Given the description of an element on the screen output the (x, y) to click on. 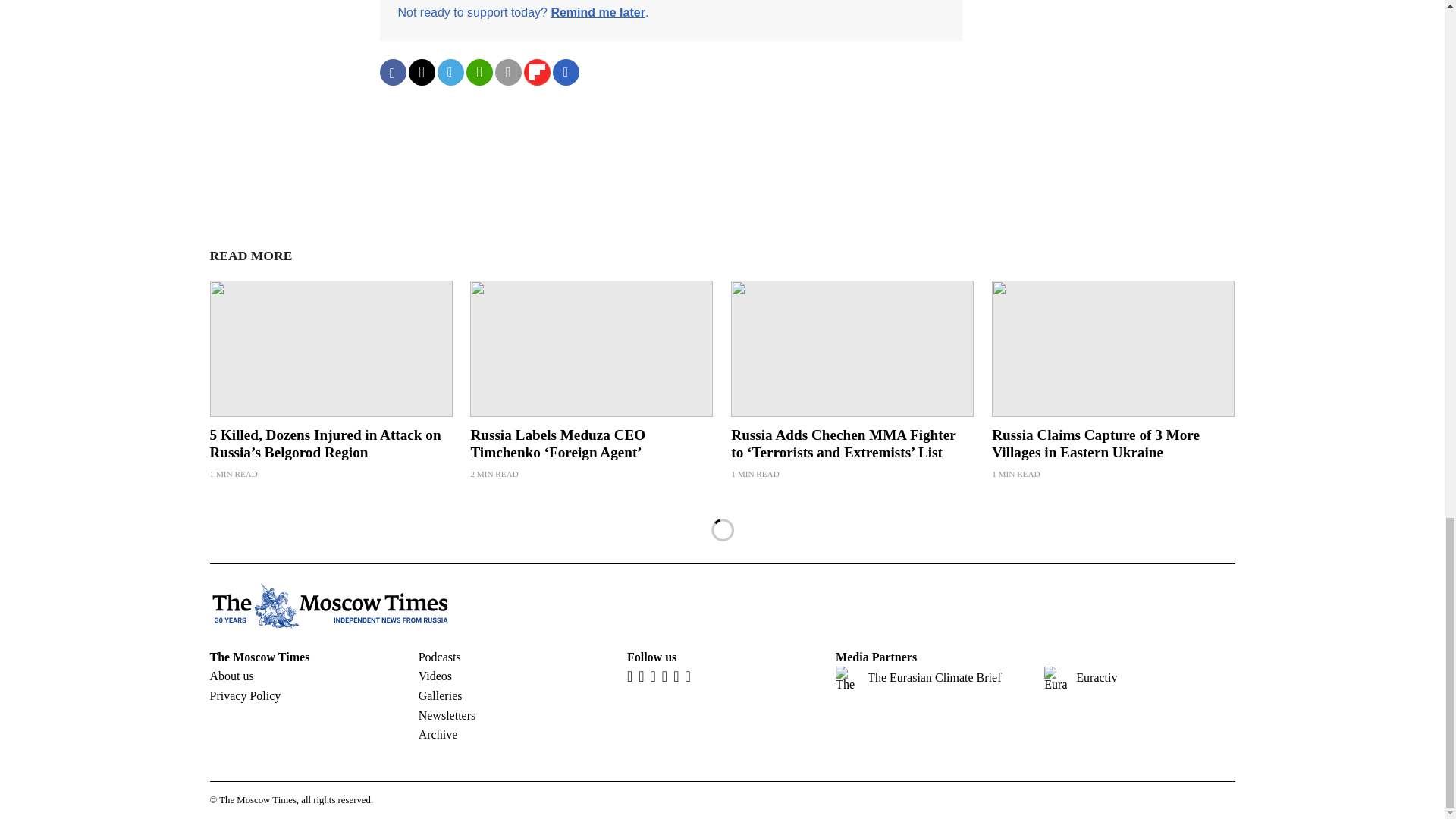
Share on Twitter (420, 71)
Share on Flipboard (536, 71)
Share on Telegram (449, 71)
Share on Facebook (392, 71)
